Given the description of an element on the screen output the (x, y) to click on. 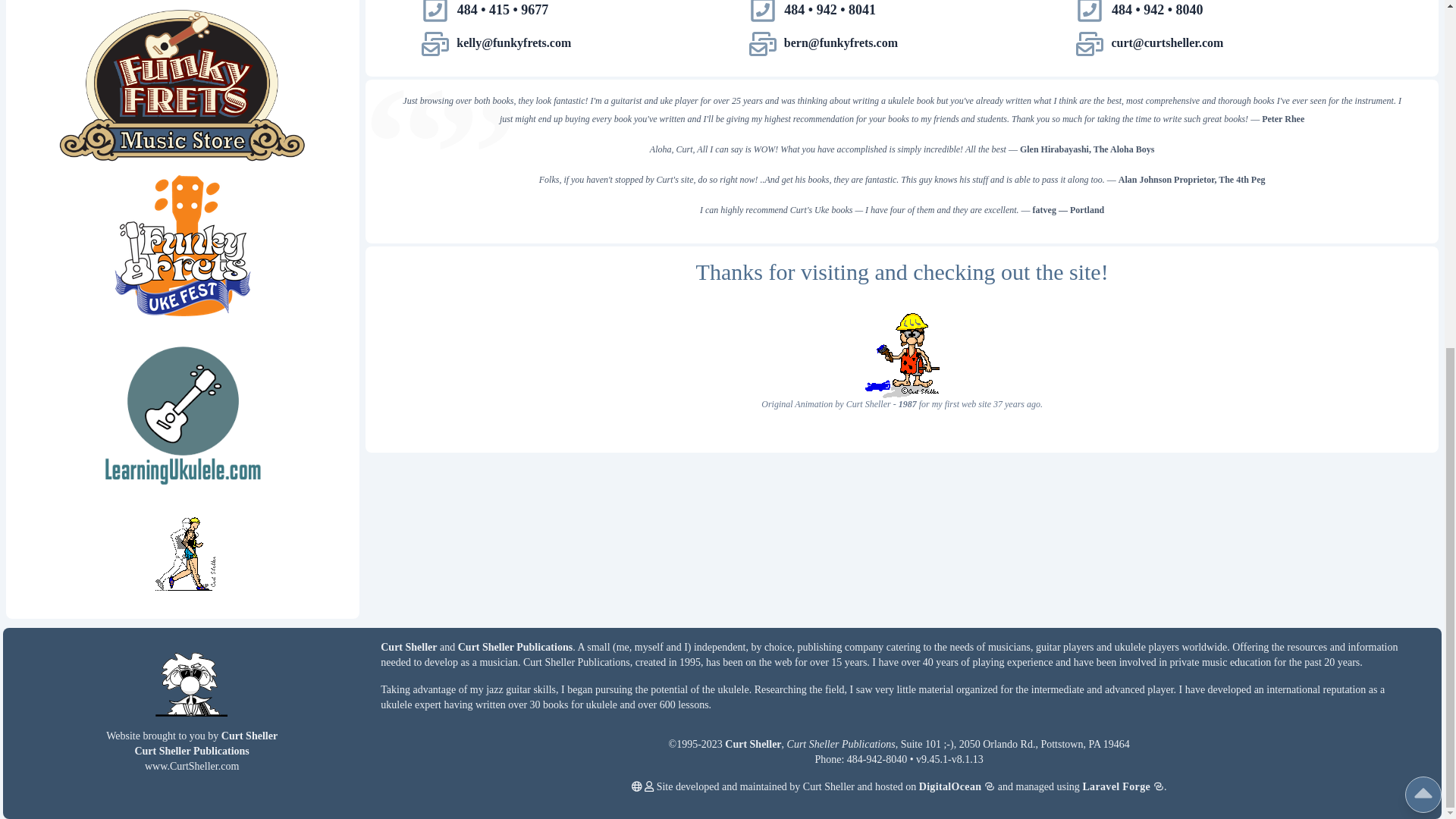
Laravel Forge (1122, 786)
DigitalOcean (956, 786)
